Given the description of an element on the screen output the (x, y) to click on. 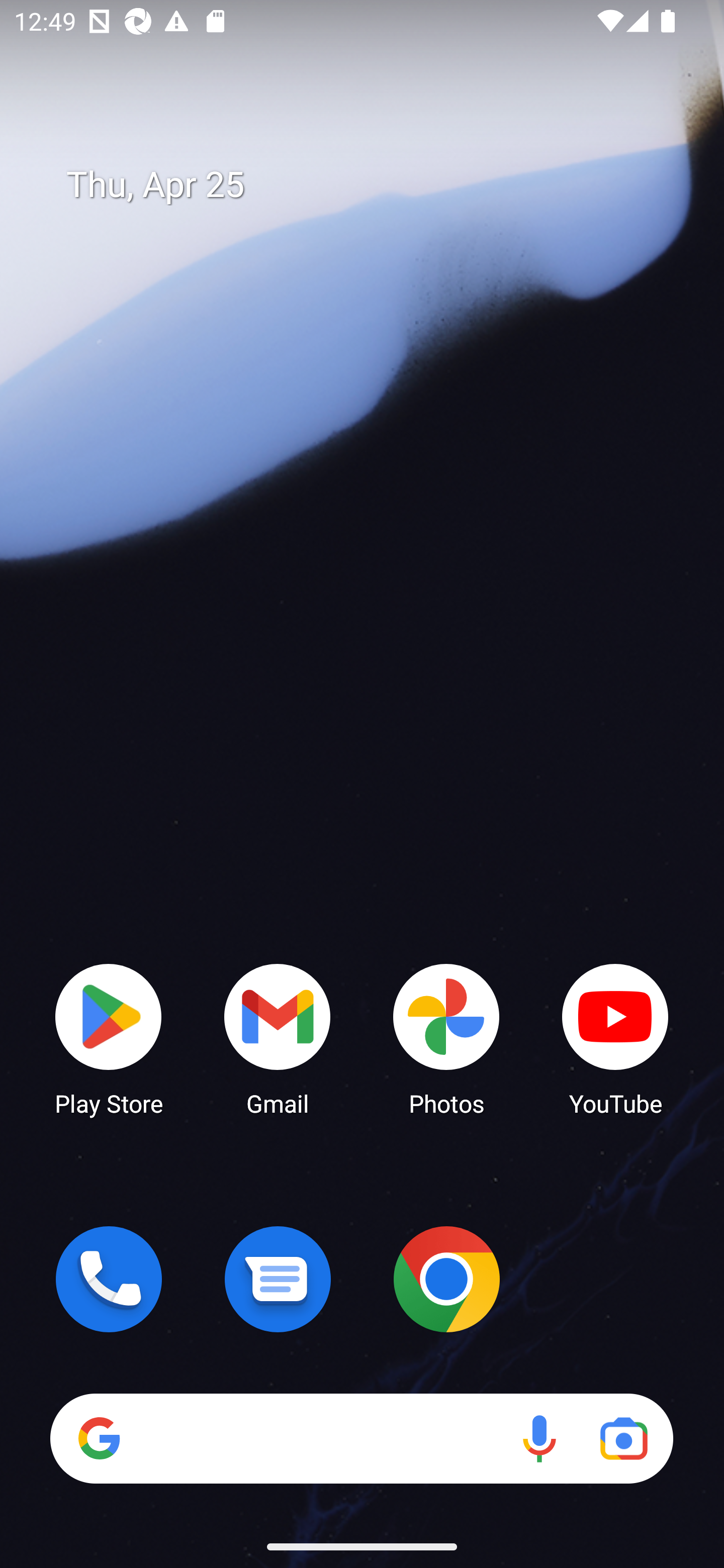
Thu, Apr 25 (375, 184)
Play Store (108, 1038)
Gmail (277, 1038)
Photos (445, 1038)
YouTube (615, 1038)
Phone (108, 1279)
Messages (277, 1279)
Chrome (446, 1279)
Search Voice search Google Lens (361, 1438)
Voice search (539, 1438)
Google Lens (623, 1438)
